Given the description of an element on the screen output the (x, y) to click on. 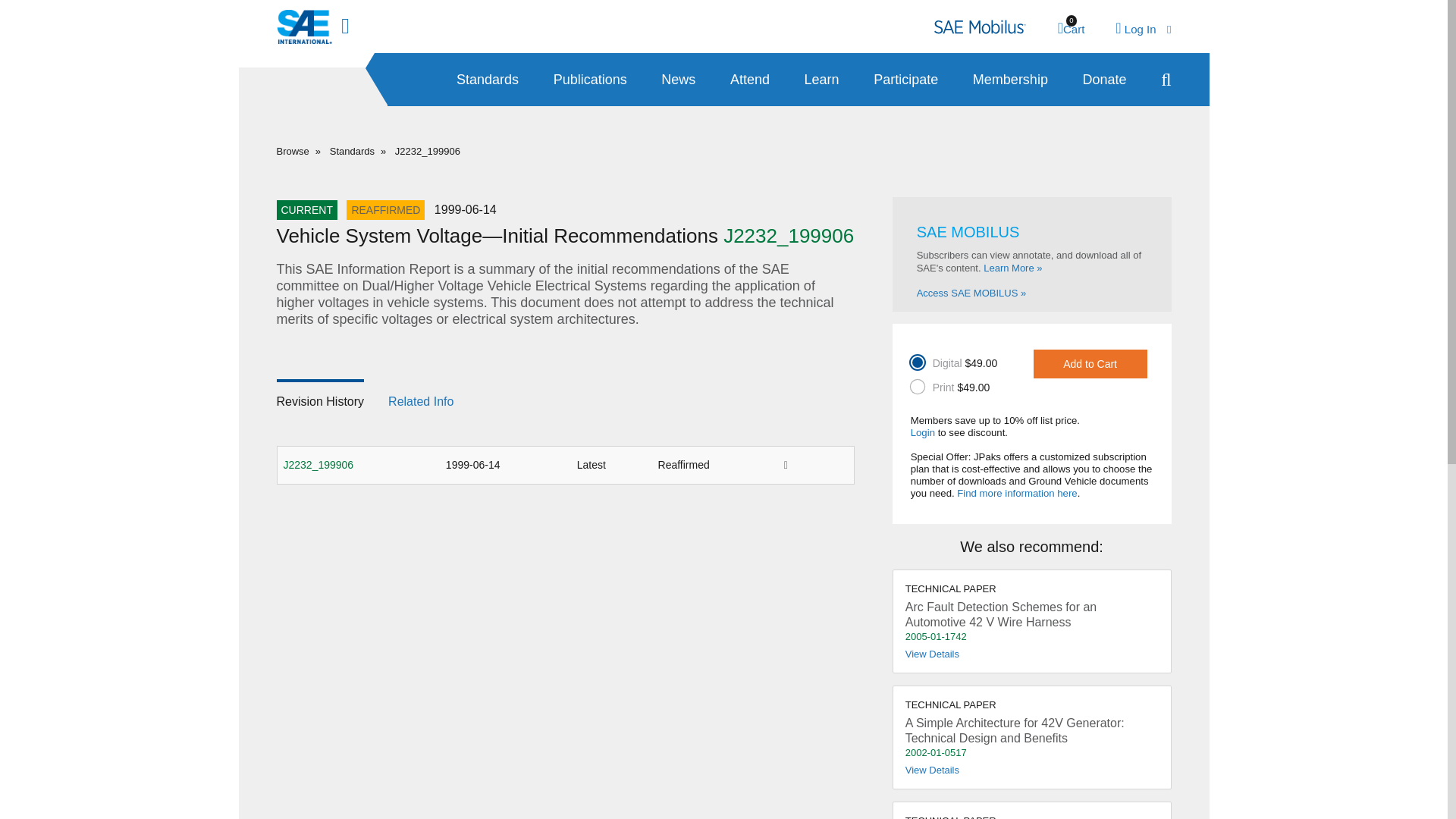
 Log In (1071, 28)
Publications (1142, 29)
Standards (590, 79)
